Given the description of an element on the screen output the (x, y) to click on. 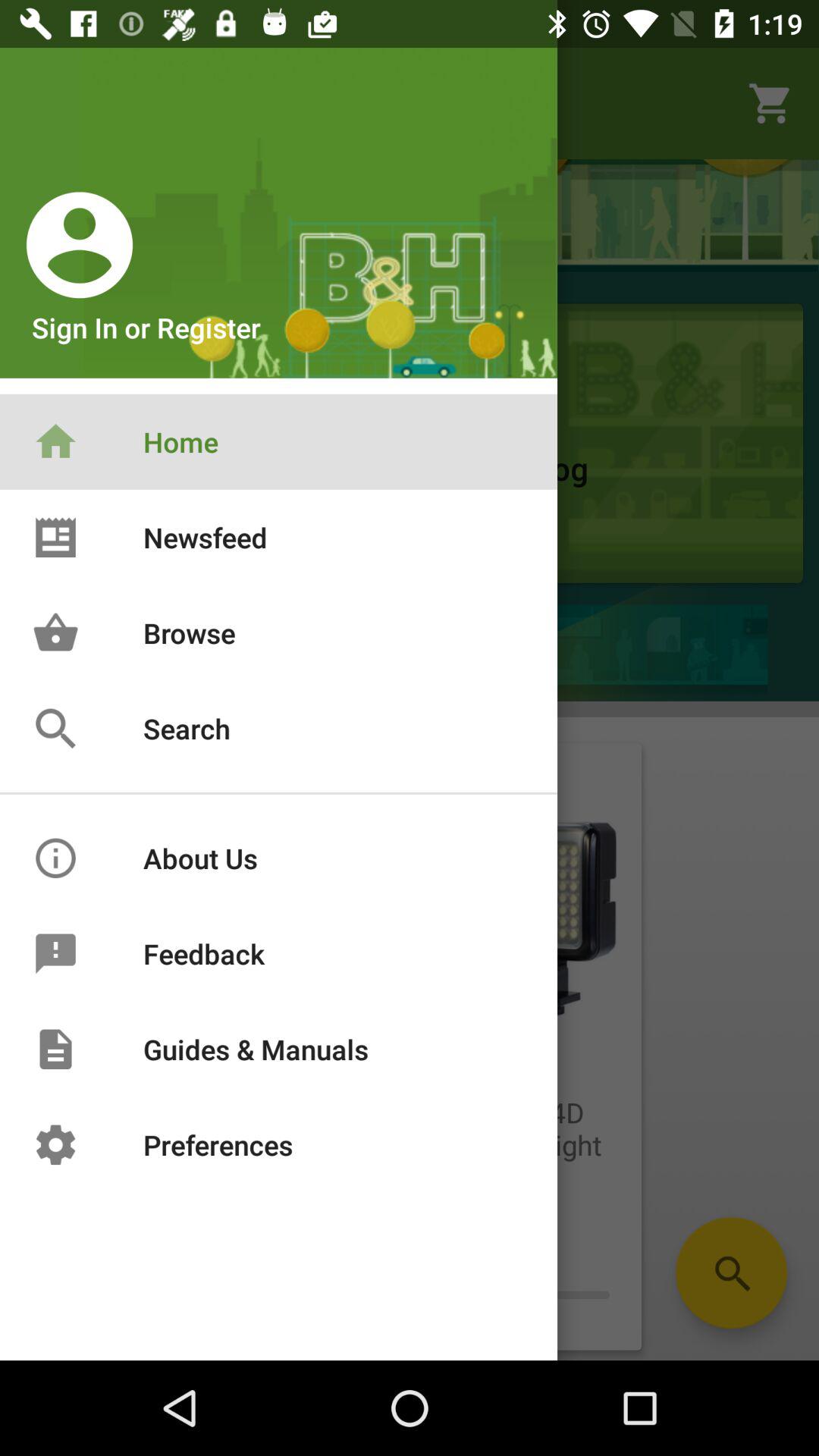
click on the cart icon (771, 103)
